Given the description of an element on the screen output the (x, y) to click on. 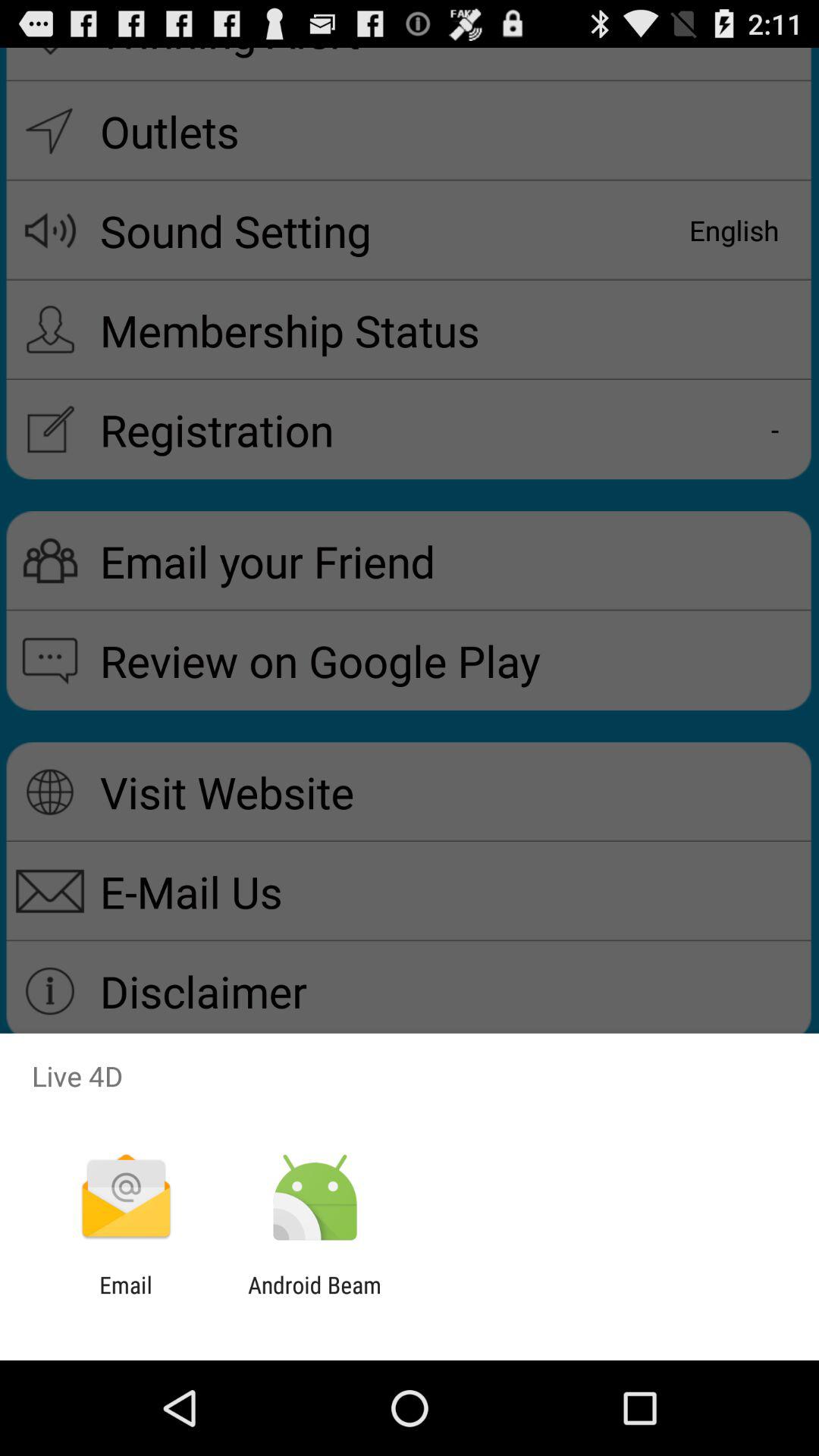
choose email (125, 1298)
